Given the description of an element on the screen output the (x, y) to click on. 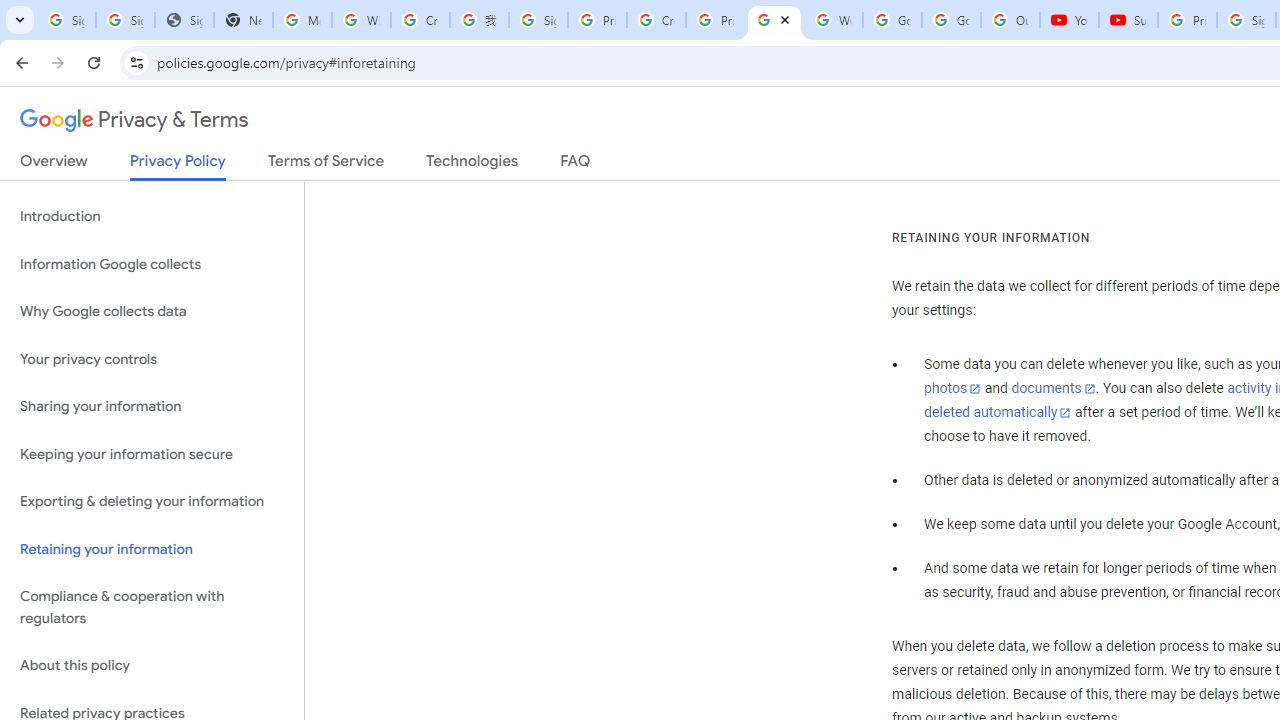
Welcome to My Activity (832, 20)
Who is my administrator? - Google Account Help (360, 20)
Your privacy controls (152, 358)
Sign in - Google Accounts (125, 20)
documents (1053, 389)
